Given the description of an element on the screen output the (x, y) to click on. 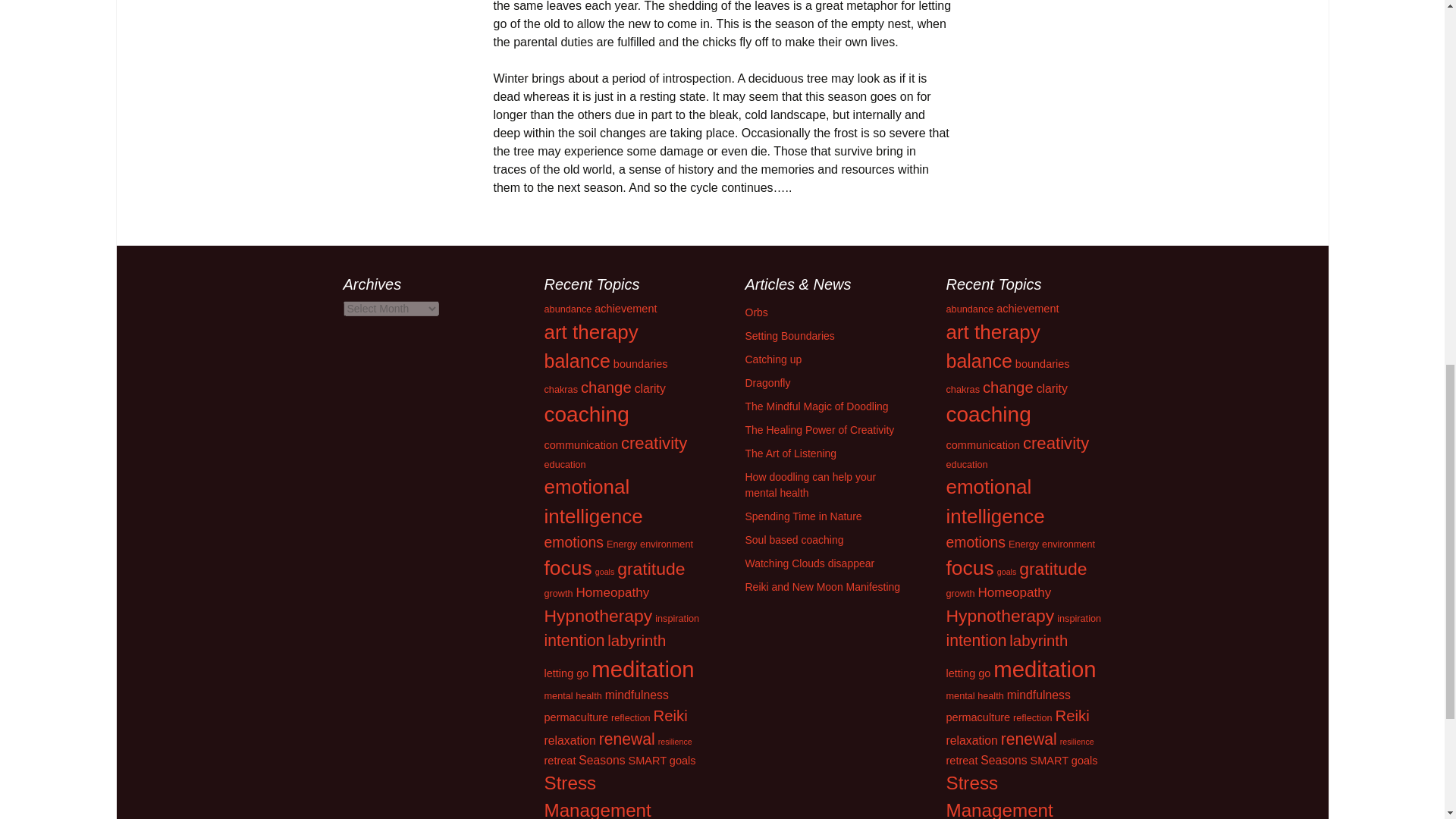
boundaries (640, 363)
abundance (568, 308)
balance (577, 360)
art therapy (591, 332)
achievement (625, 308)
